Given the description of an element on the screen output the (x, y) to click on. 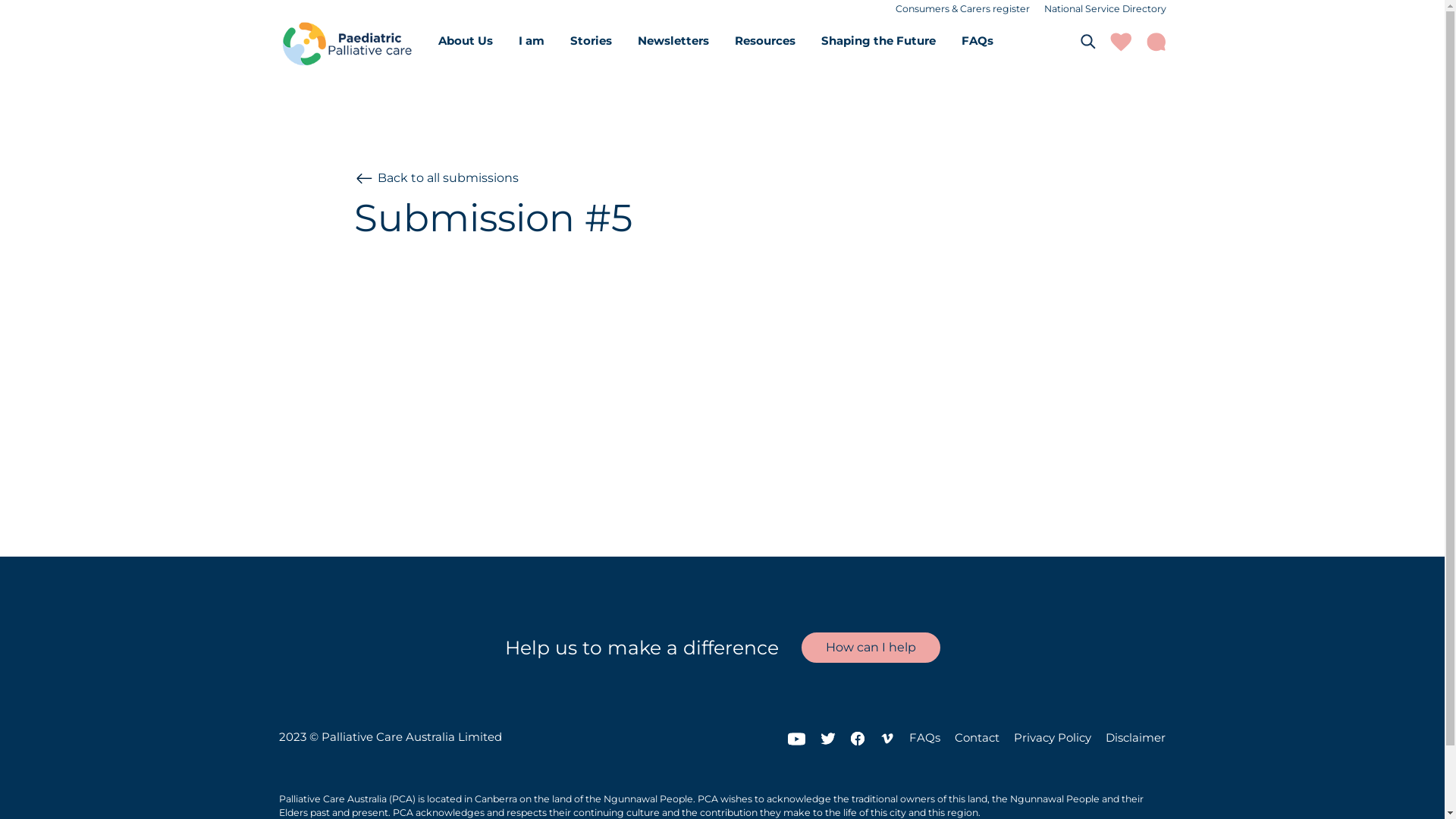
Stories Element type: text (590, 40)
Consumers & Carers register Element type: text (961, 8)
About Us Element type: text (465, 40)
Privacy Policy Element type: text (1052, 737)
National Service Directory Element type: text (1104, 8)
FAQs Element type: text (924, 737)
How can I help Element type: text (869, 647)
I am Element type: text (531, 40)
Shaping the Future Element type: text (877, 40)
Disclaimer Element type: text (1135, 737)
Back to all submissions Element type: text (436, 183)
Newsletters Element type: text (672, 40)
Contact Element type: text (976, 737)
FAQs Element type: text (977, 40)
Resources Element type: text (764, 40)
